Given the description of an element on the screen output the (x, y) to click on. 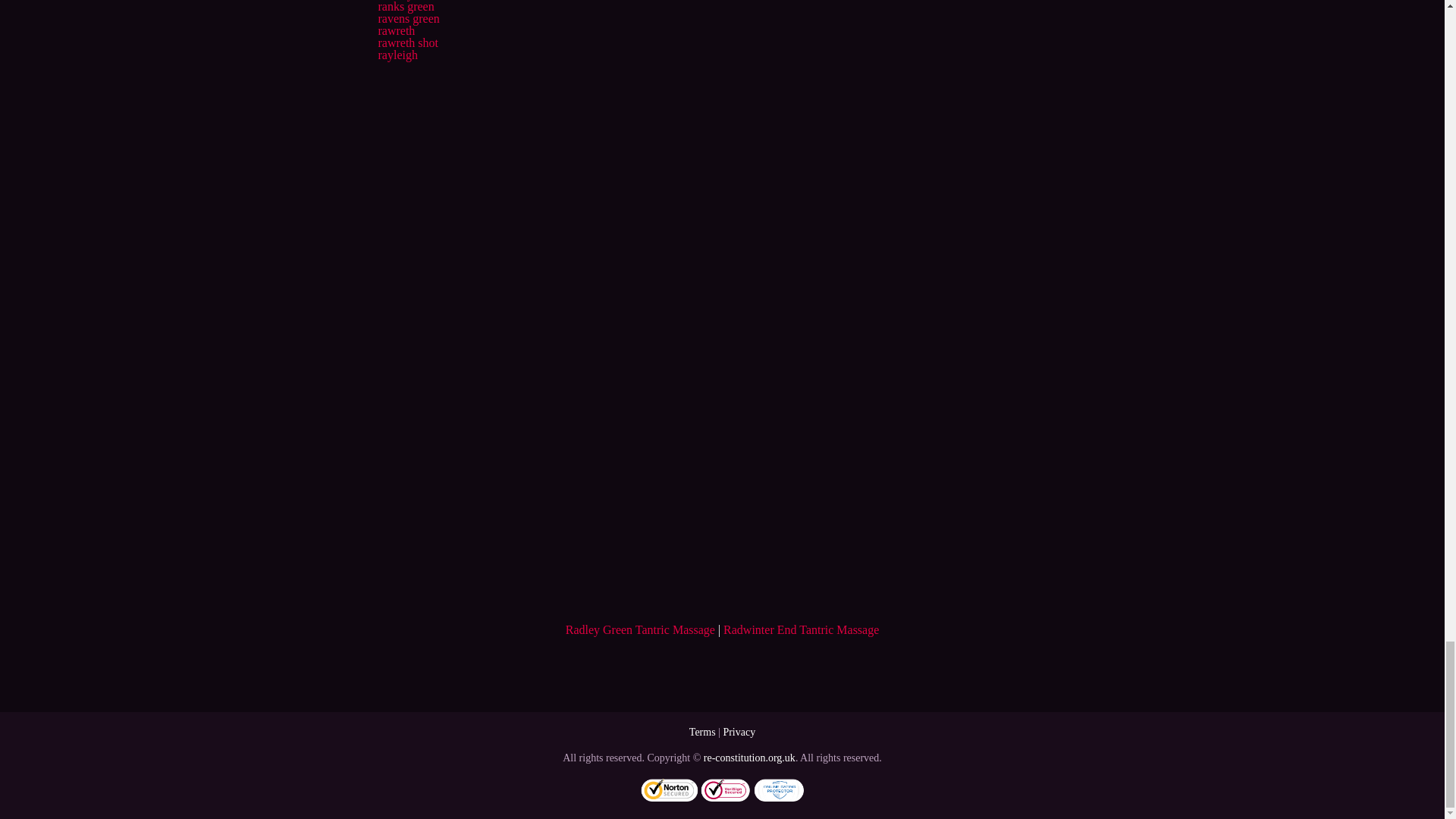
re-constitution.org.uk (748, 757)
Radley Green Tantric Massage (640, 629)
rayleigh (396, 54)
ranks green (405, 6)
Radwinter End Tantric Massage (801, 629)
ravens green (408, 18)
Terms (702, 731)
Privacy (738, 731)
Terms (702, 731)
rawreth (395, 30)
